Given the description of an element on the screen output the (x, y) to click on. 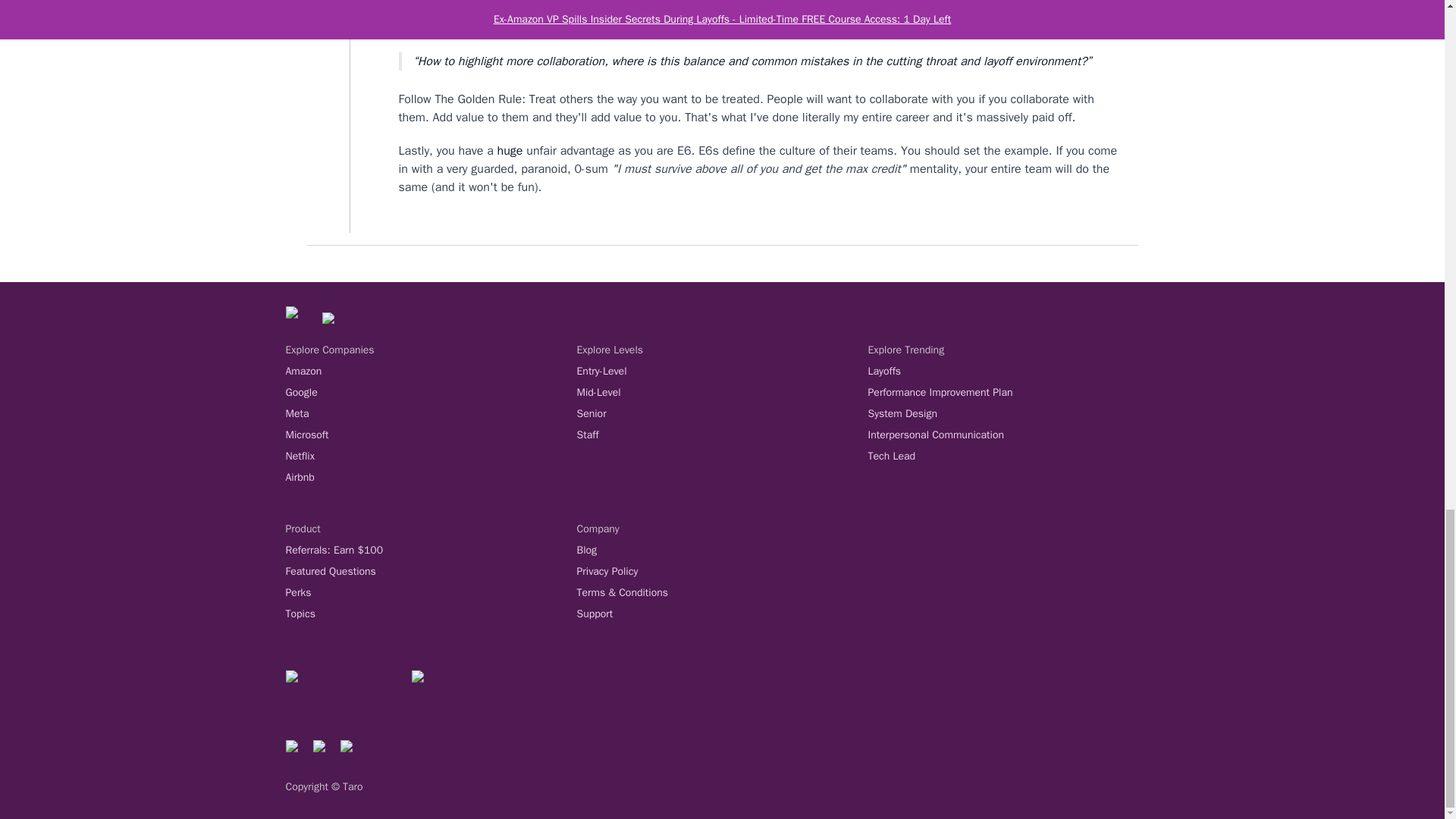
Layoffs (1012, 371)
Staff (721, 435)
System Design (1012, 413)
Meta (430, 413)
Privacy Policy (721, 571)
Featured Questions (430, 571)
Tech Lead (1012, 456)
Amazon (430, 371)
Microsoft (430, 435)
Senior (721, 413)
Interpersonal Communication (1012, 435)
Entry-Level (721, 371)
Netflix (430, 456)
Blog (721, 549)
Performance Improvement Plan (1012, 392)
